Given the description of an element on the screen output the (x, y) to click on. 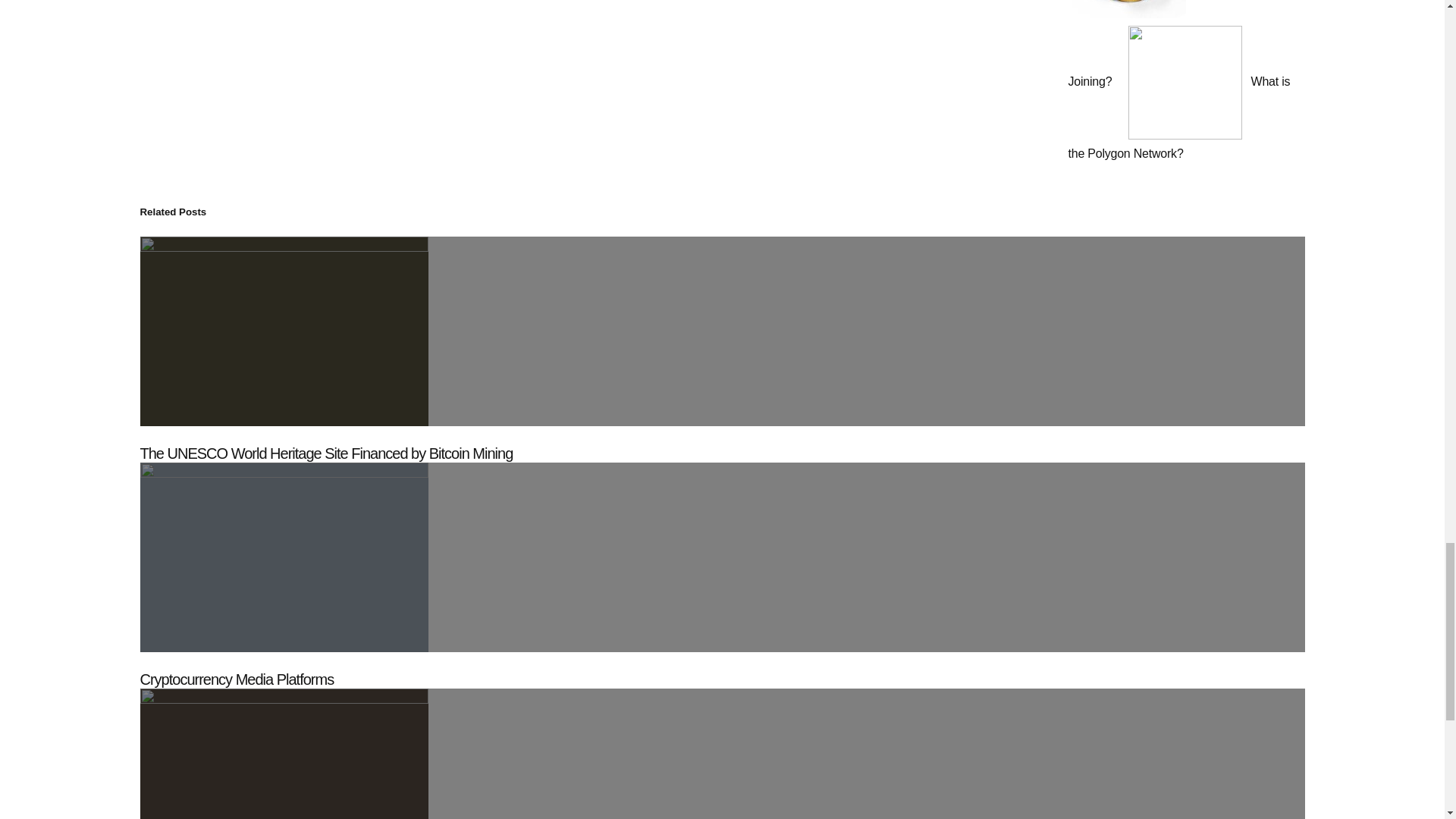
What is Coin-Joining? (1166, 43)
What is the Polygon Network? (1178, 117)
What is the Polygon Network? (1178, 117)
The UNESCO World Heritage Site Financed by Bitcoin Mining (325, 453)
Cryptocurrency Media Platforms (236, 678)
What is Coin-Joining? (1166, 43)
